Given the description of an element on the screen output the (x, y) to click on. 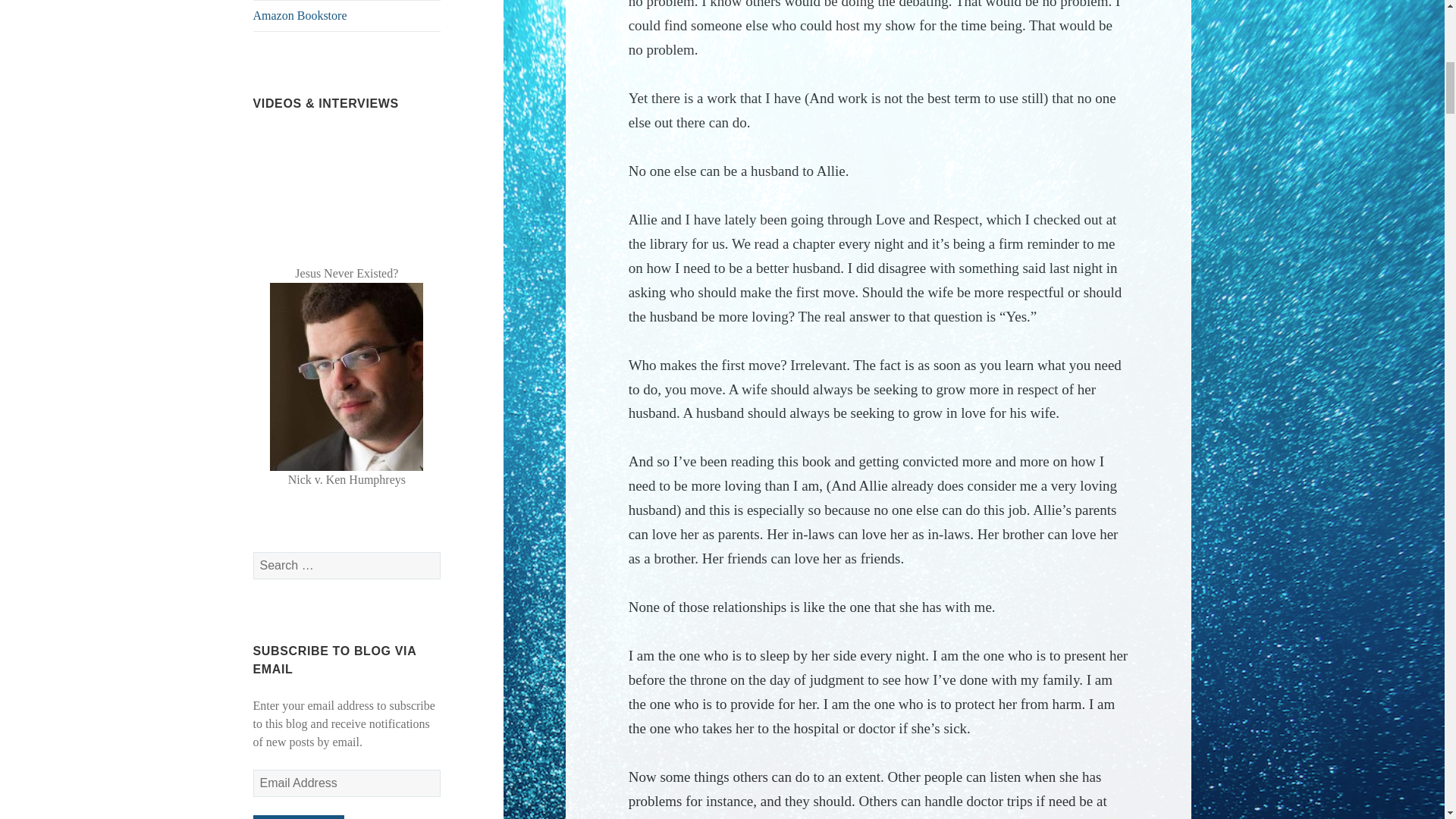
Amazon Bookstore (347, 15)
SUBSCRIBE (299, 816)
